Given the description of an element on the screen output the (x, y) to click on. 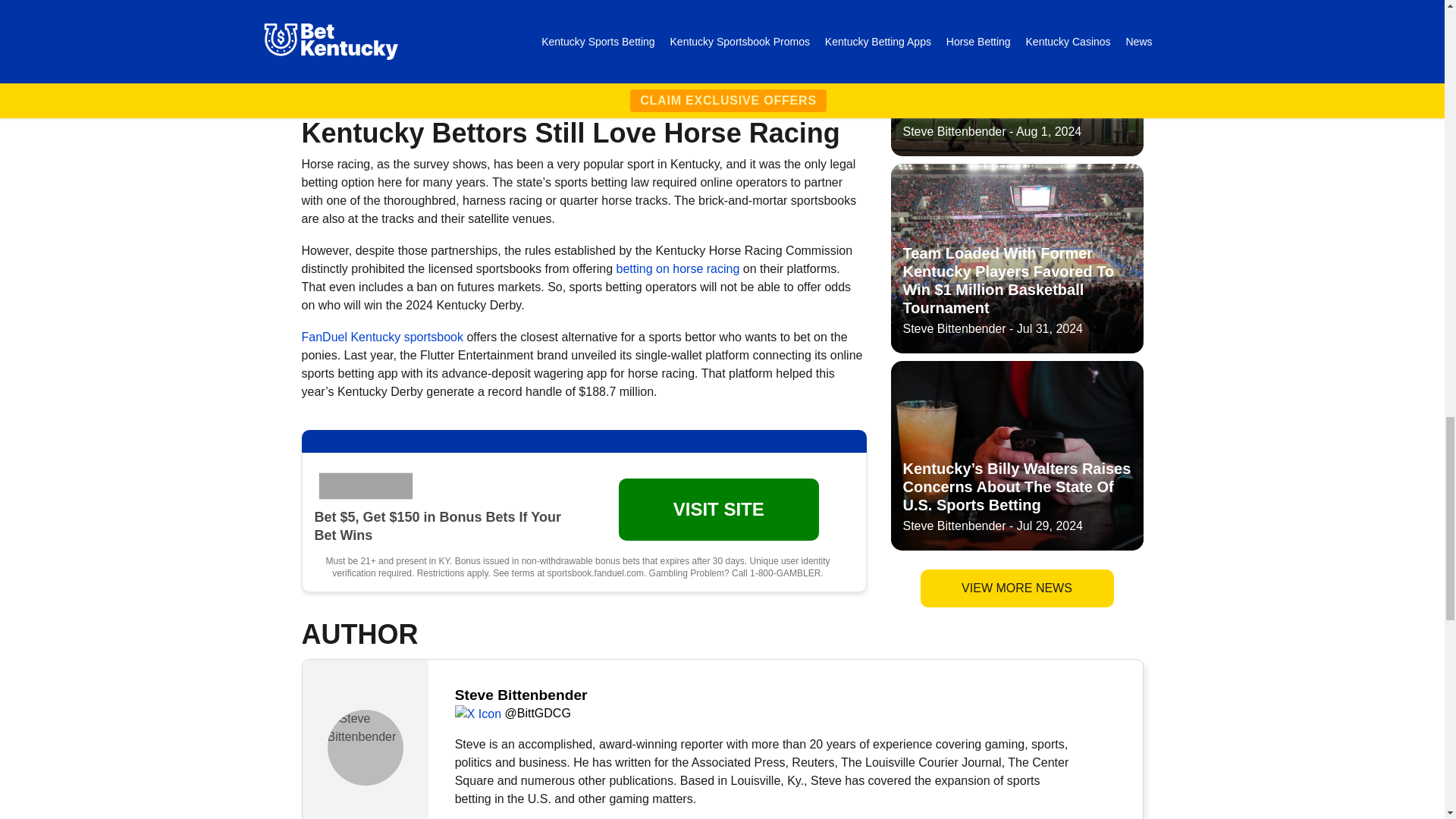
DraftKings Sports (368, 13)
FanDuel Sports (368, 485)
Steve Bittenbender (365, 747)
